Given the description of an element on the screen output the (x, y) to click on. 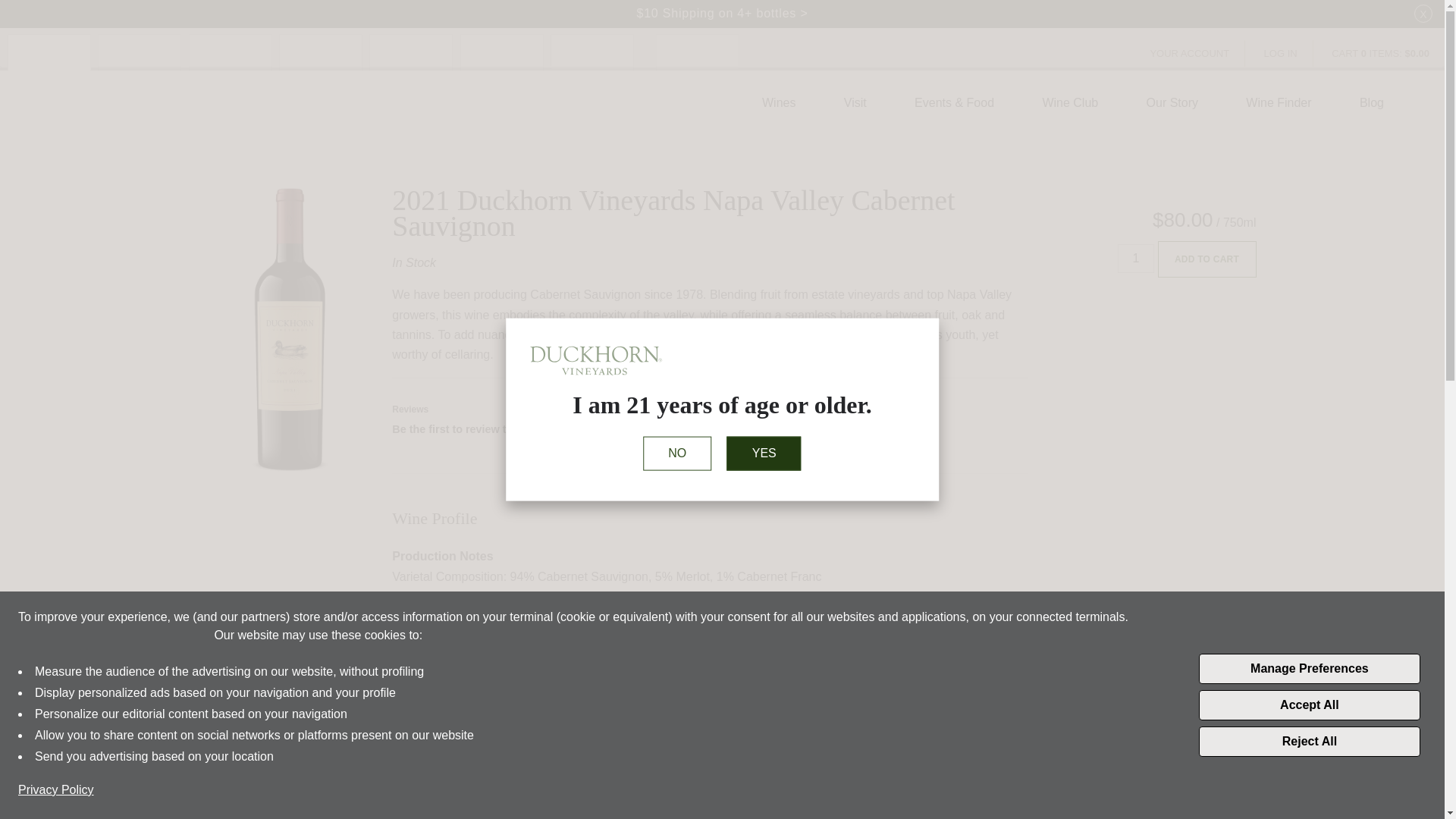
Manage Preferences (1309, 668)
Reject All (1309, 741)
Accept All (1309, 705)
X (1422, 13)
1 (1136, 258)
YOUR ACCOUNT (1189, 53)
Privacy Policy (55, 789)
LOG IN (1281, 53)
